Given the description of an element on the screen output the (x, y) to click on. 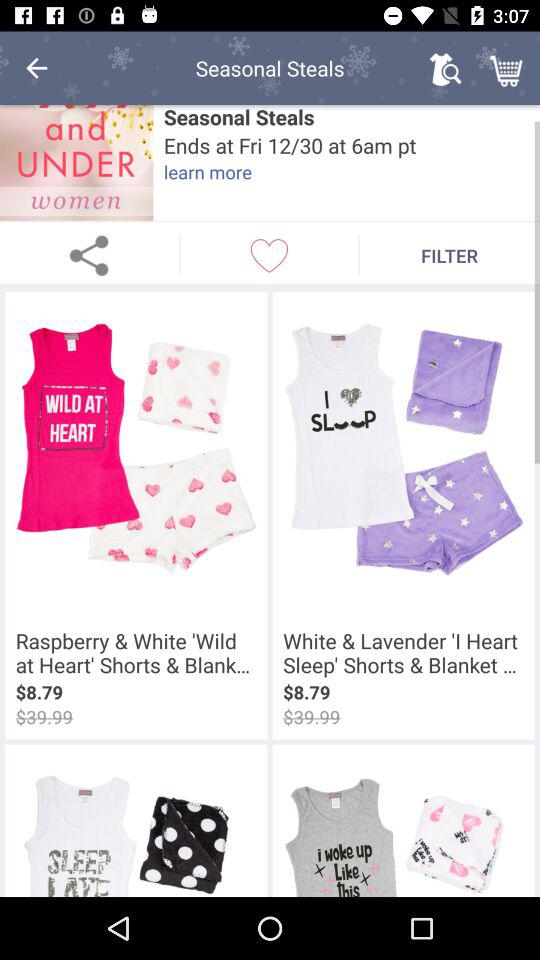
choose icon to the left of the seasonal steals item (36, 68)
